Given the description of an element on the screen output the (x, y) to click on. 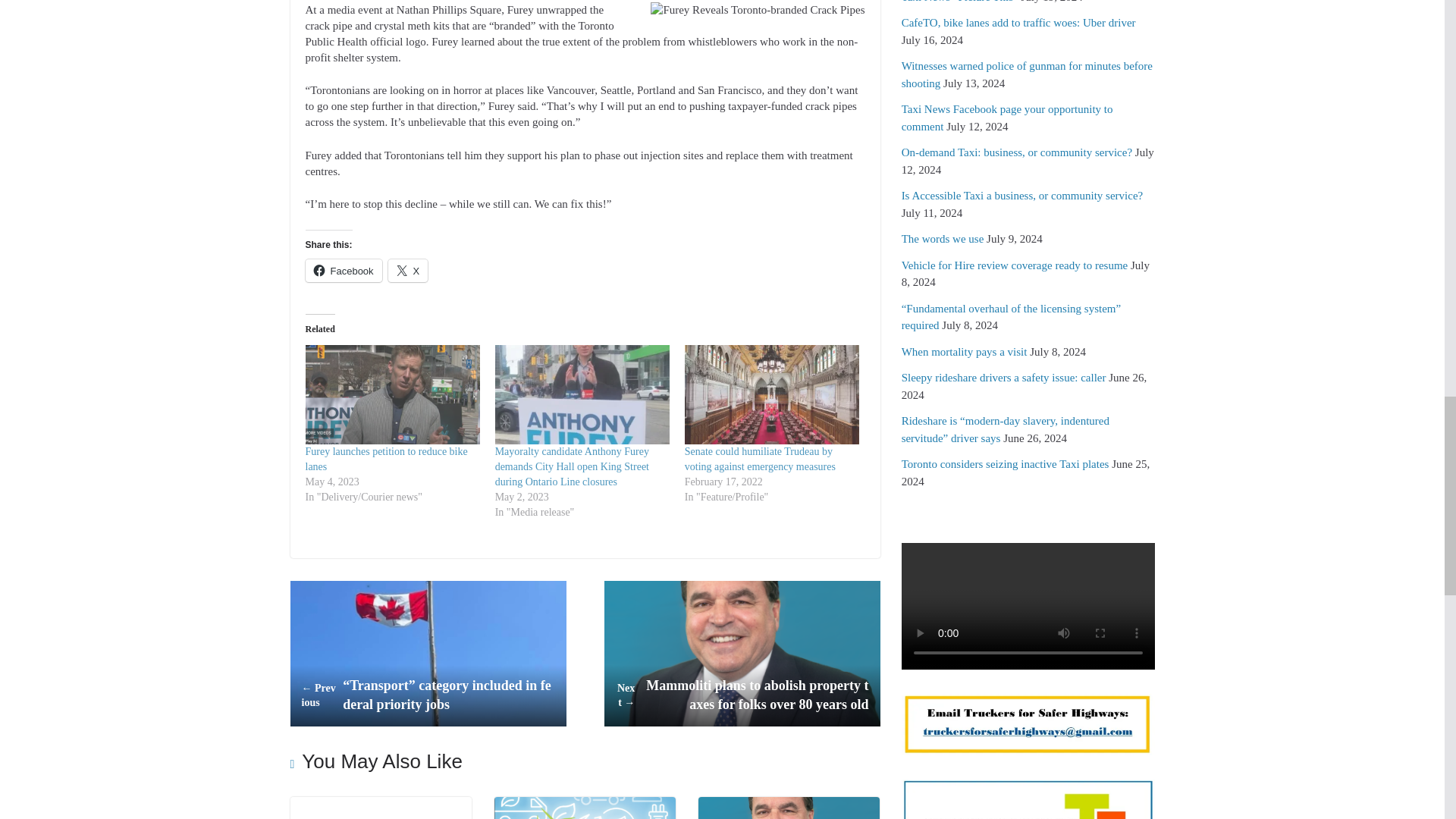
Furey launches petition to reduce bike lanes (385, 458)
Facebook (342, 270)
Click to share on X (408, 270)
Click to share on Facebook (342, 270)
X (408, 270)
Furey launches petition to reduce bike lanes (385, 458)
Furey launches petition to reduce bike lanes (391, 394)
